Given the description of an element on the screen output the (x, y) to click on. 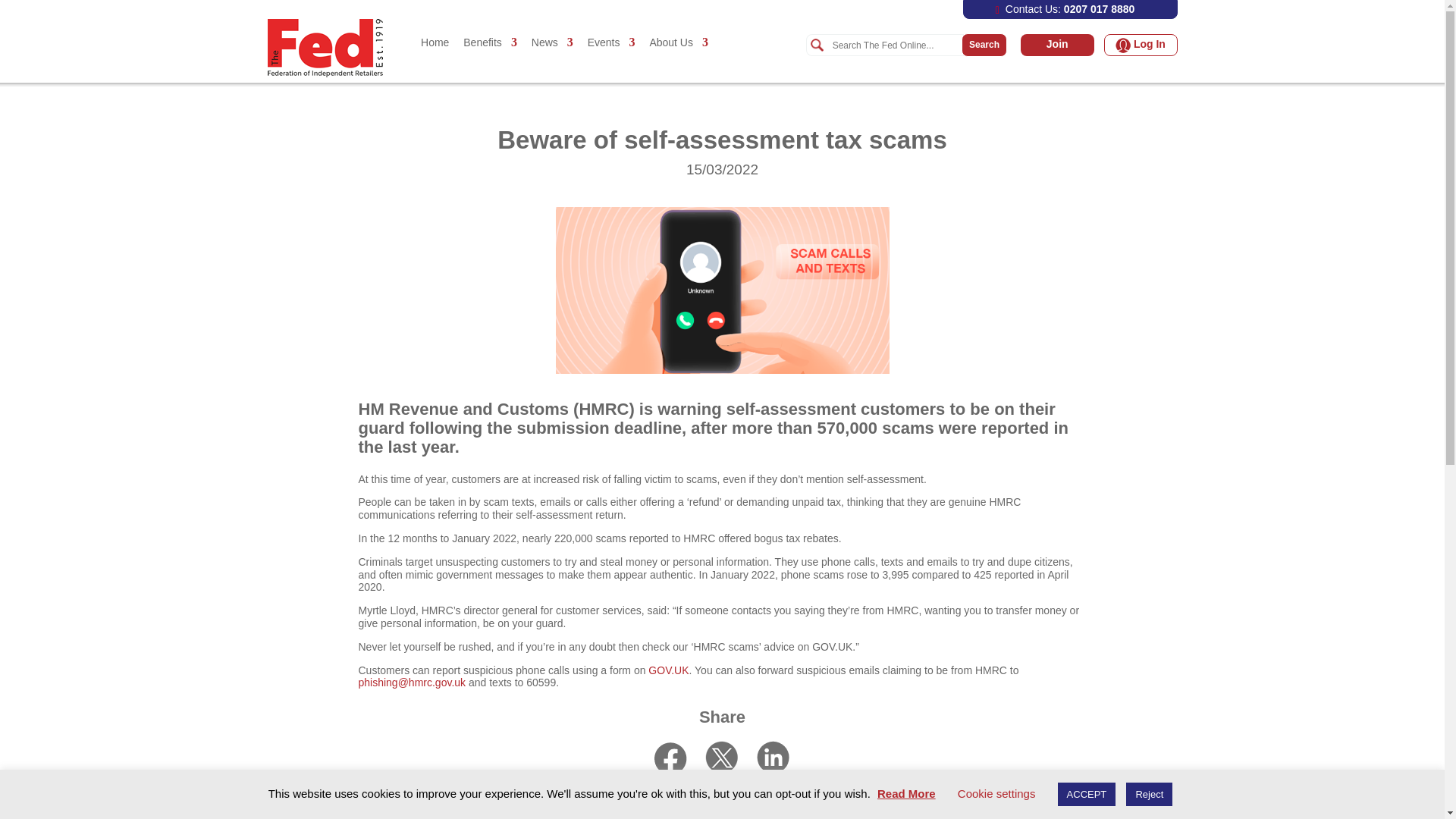
Search (894, 45)
Benefits (489, 57)
0207 017 8880 (1099, 9)
